Given the description of an element on the screen output the (x, y) to click on. 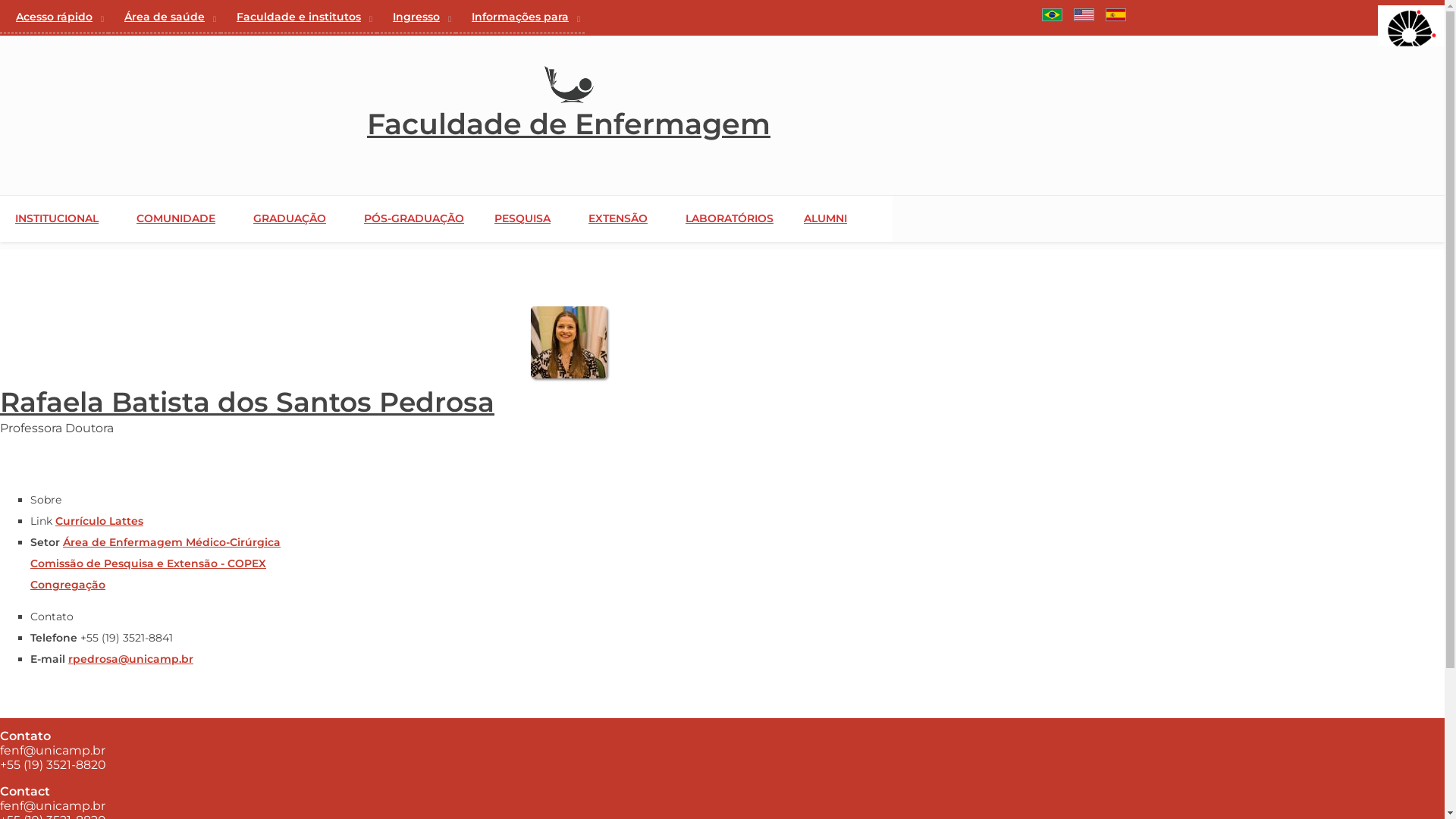
  Element type: text (1036, 15)
Faculdade de Enfermagem Element type: text (568, 123)
Rafaela Batista dos Santos Pedrosa Element type: text (247, 401)
COMUNIDADE Element type: text (198, 218)
Ingresso Element type: text (415, 16)
ES Element type: hover (1115, 14)
rpedrosa@unicamp.br Element type: text (130, 658)
INSTITUCIONAL Element type: text (79, 218)
Buscar/Search Element type: hover (1036, 15)
BR Element type: hover (1051, 14)
PESQUISA Element type: text (545, 218)
EN Element type: hover (1083, 14)
Faculdade e institutos Element type: text (298, 16)
ALUMNI Element type: text (840, 218)
